Given the description of an element on the screen output the (x, y) to click on. 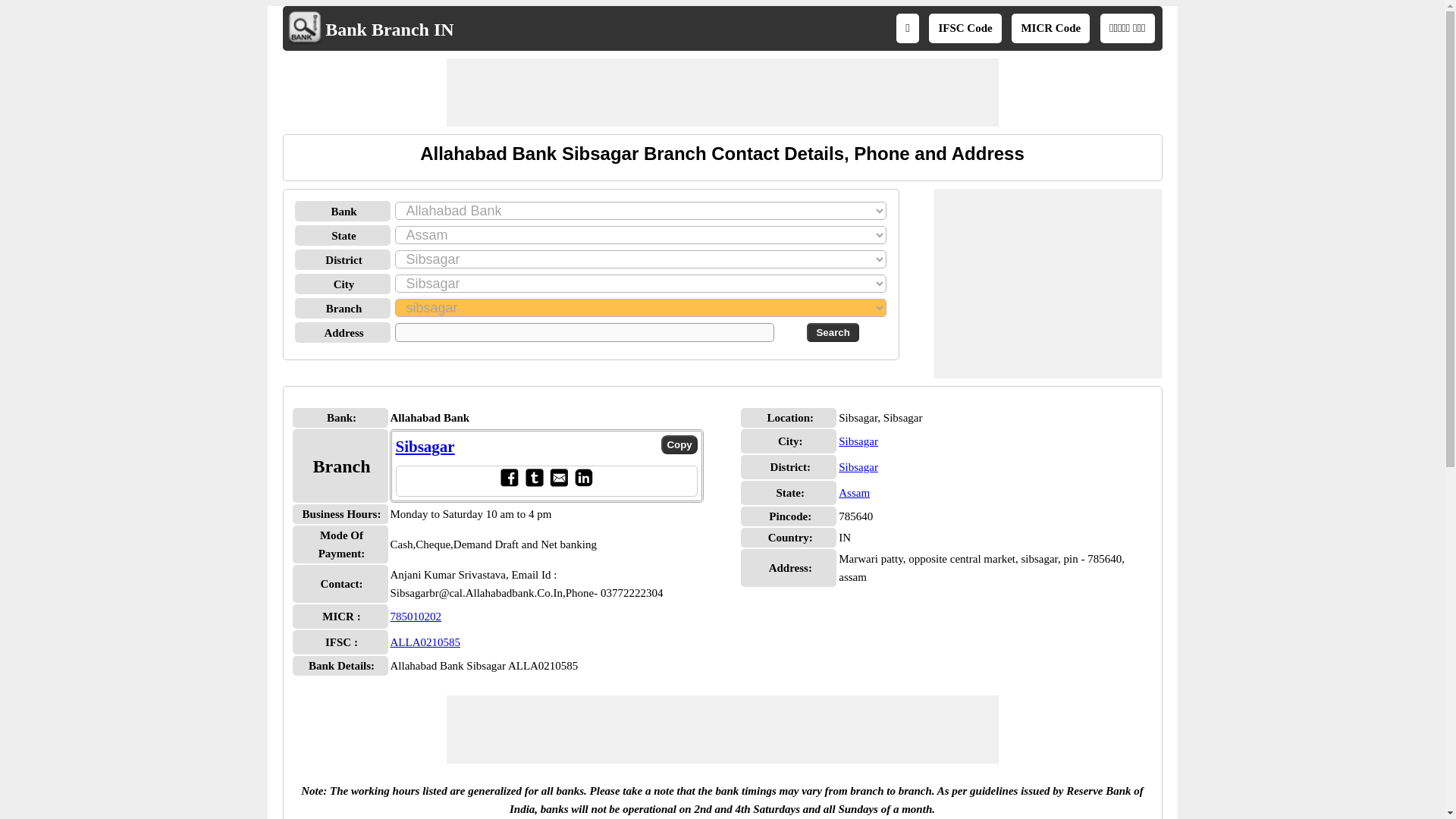
Share on Facebook (508, 482)
Search (832, 332)
MICR Code (1050, 28)
Assam (853, 492)
IFSC Code (964, 28)
Copy (679, 444)
Sibsagar (425, 446)
785010202 (415, 616)
ALLA0210585 (425, 642)
Search (832, 332)
Bank Branch IN (388, 29)
Sibsagar (857, 467)
Share on Twitter (533, 482)
Sibsagar (857, 440)
